Given the description of an element on the screen output the (x, y) to click on. 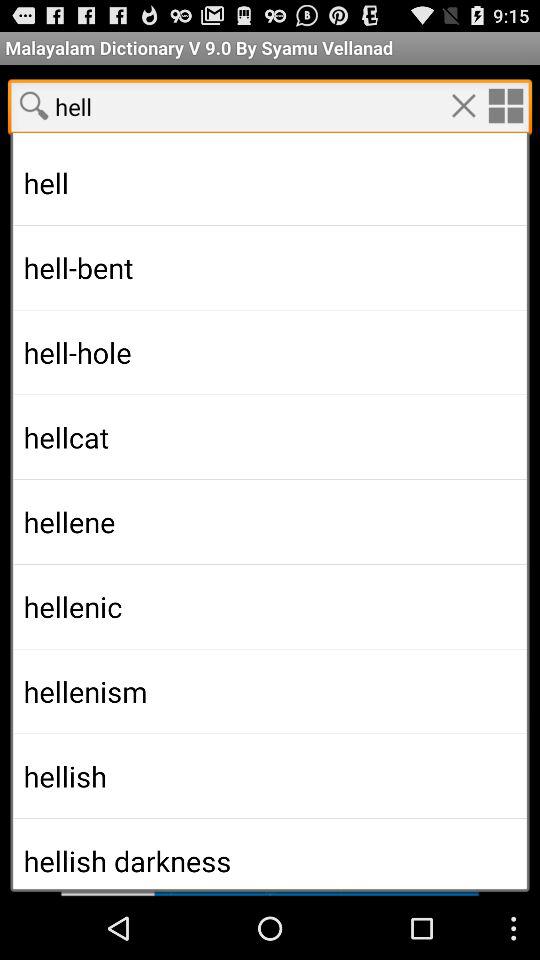
home page button (505, 105)
